Given the description of an element on the screen output the (x, y) to click on. 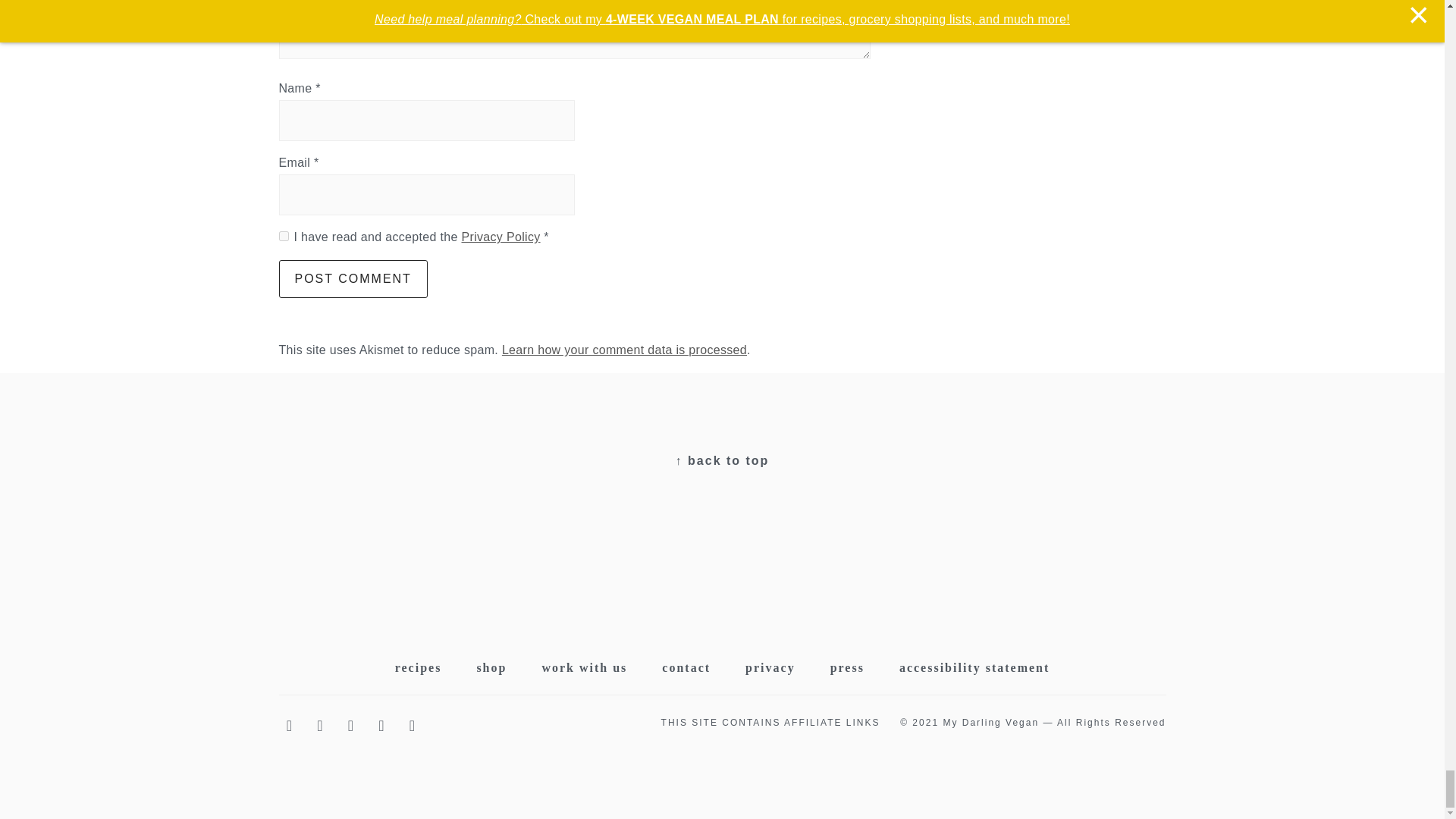
My Darling Vegan Facebook (291, 725)
My Darling Vegan Pinterest (352, 725)
policy-key (283, 235)
My Darling Vegan Twitter (322, 725)
Post Comment (353, 279)
My Darling Vegan Instagram (383, 725)
My Darling Vegan Contact (414, 725)
